Given the description of an element on the screen output the (x, y) to click on. 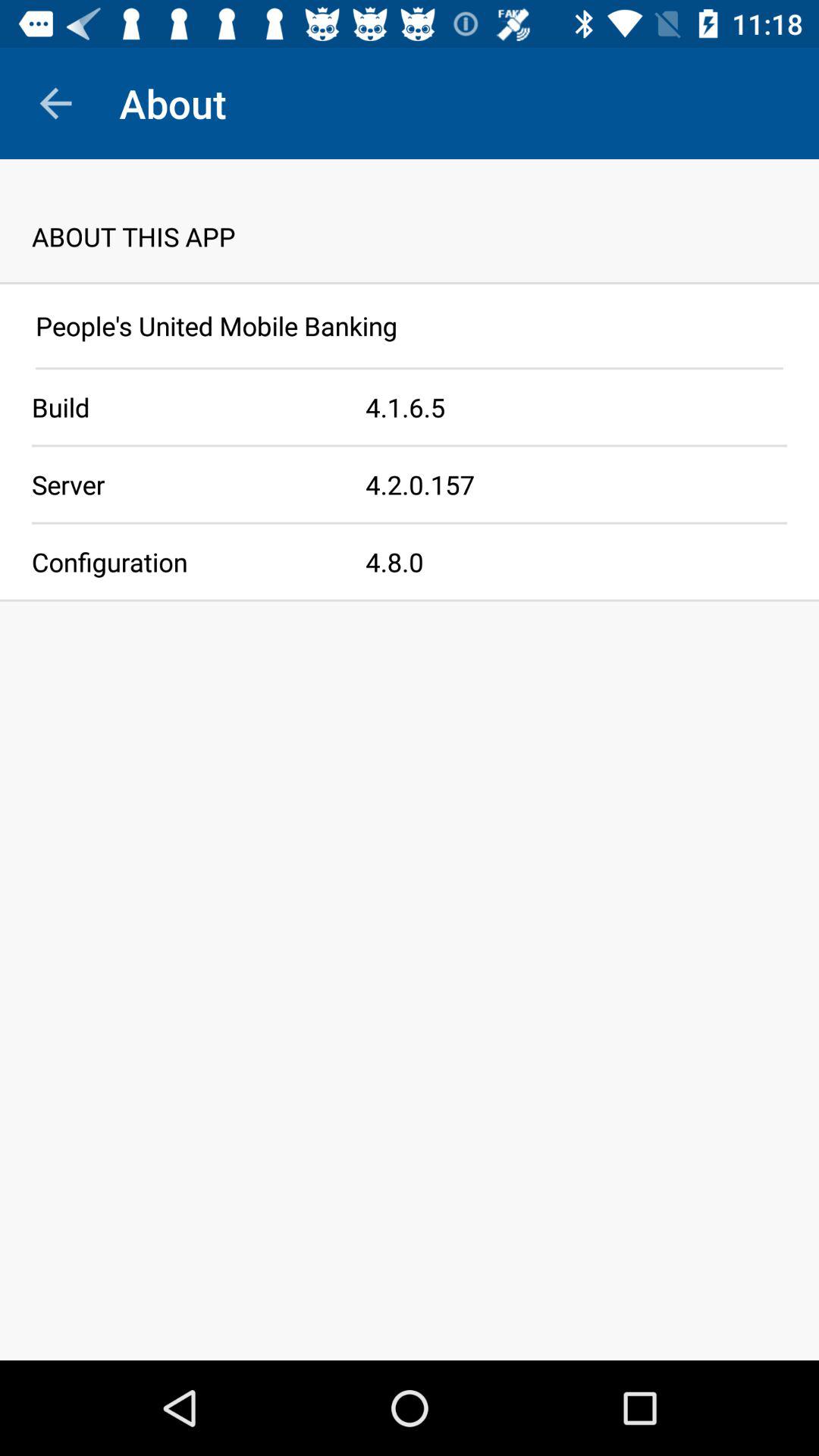
launch icon below about this app app (409, 283)
